Given the description of an element on the screen output the (x, y) to click on. 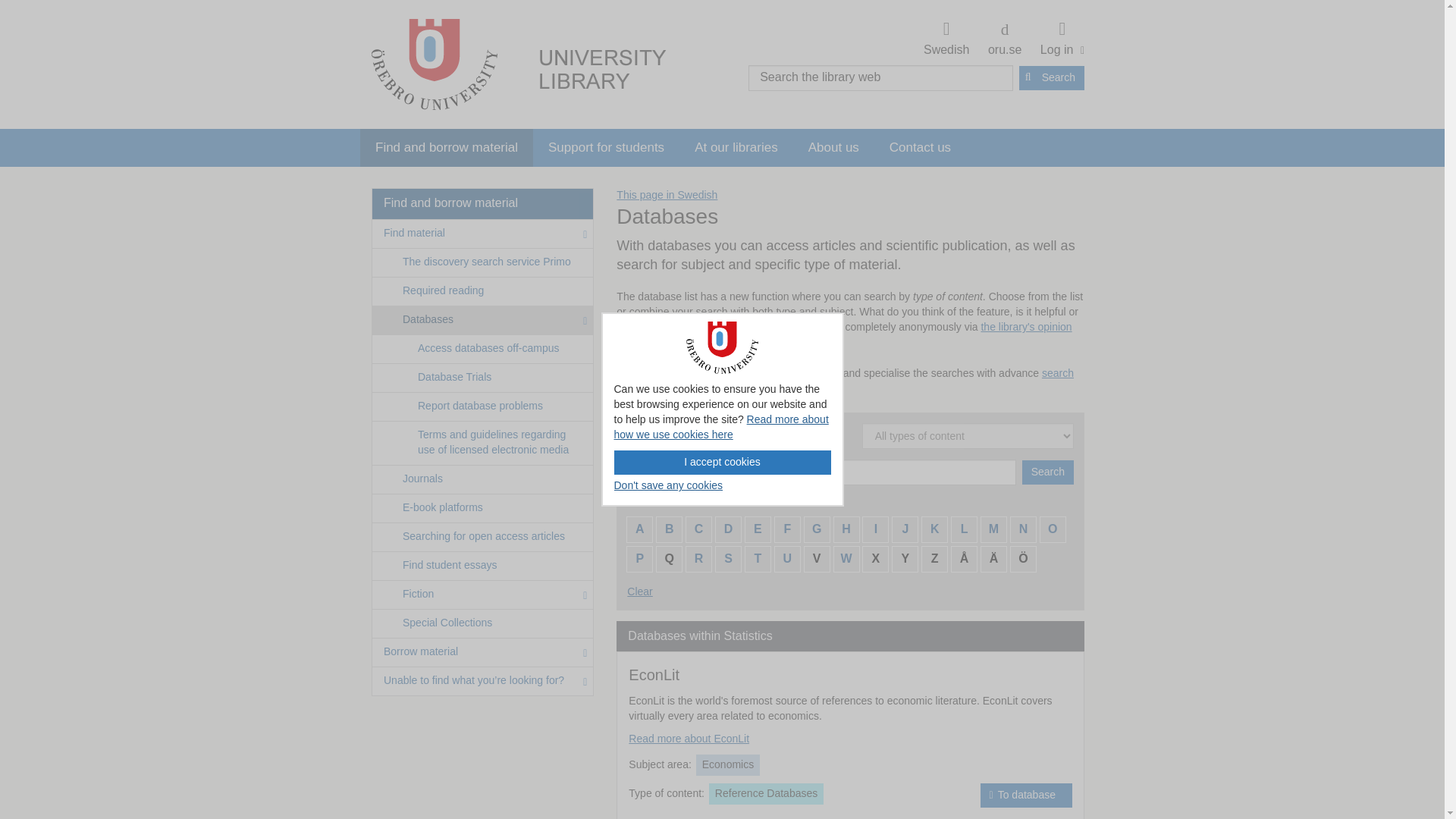
Find and borrow material (445, 147)
the library's opinion box? (843, 334)
Search (1051, 78)
I accept cookies (722, 462)
Don't save any cookies (668, 485)
Go to Startpage (434, 63)
Support for students (605, 147)
Don't save any cookies (668, 485)
I accept cookies (722, 462)
Swedish (946, 39)
oru.se (1004, 40)
Read more about how we use cookies here (1060, 39)
